Given the description of an element on the screen output the (x, y) to click on. 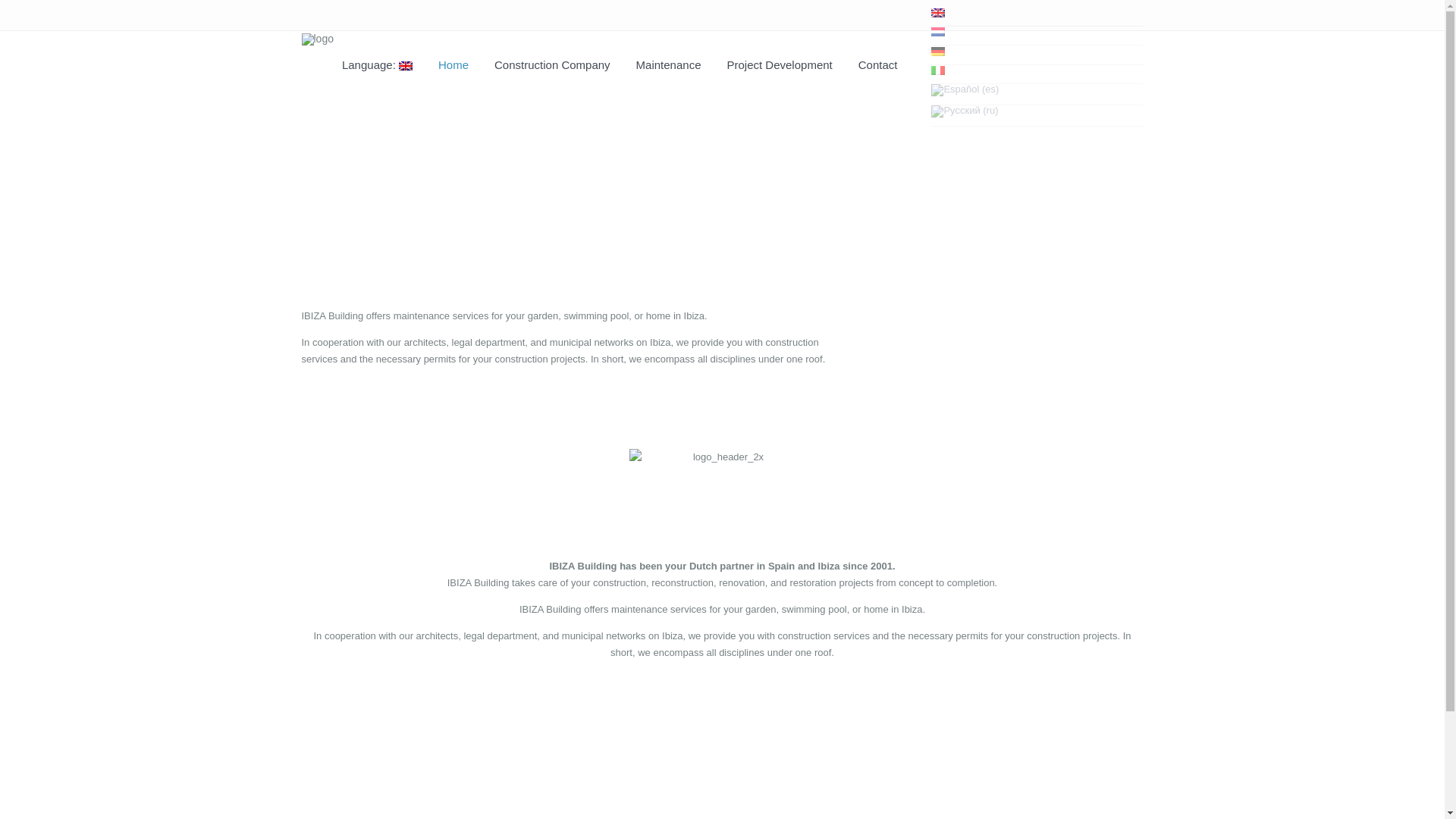
Maintenance (47, 154)
Construction Company (552, 70)
English (377, 70)
Project Development (64, 193)
Contact (35, 231)
Contact (878, 70)
Maintenance (668, 70)
Project Development (779, 70)
Language:  (377, 70)
Home (453, 70)
